Given the description of an element on the screen output the (x, y) to click on. 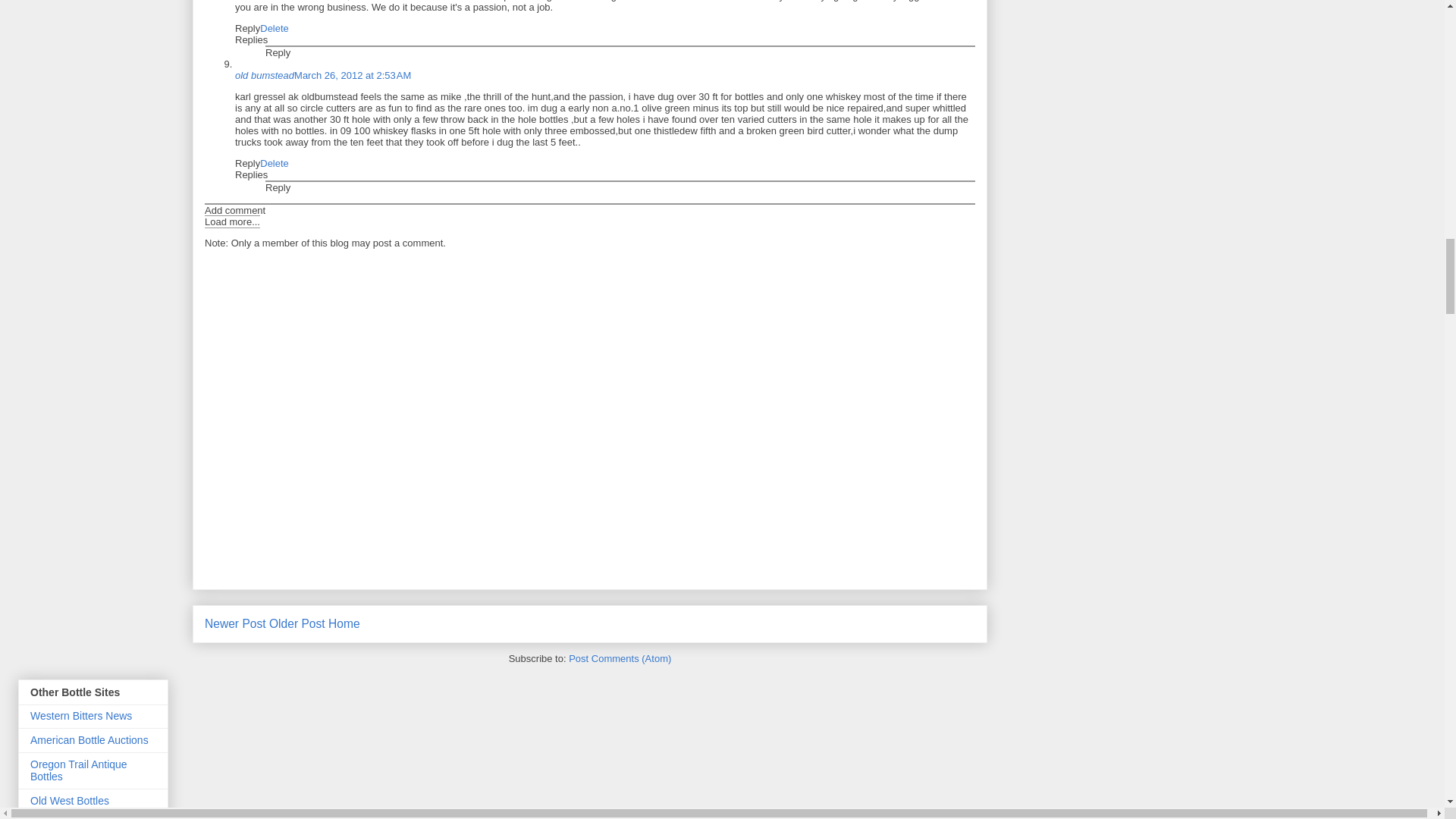
Older Post (296, 623)
Newer Post (235, 623)
